Given the description of an element on the screen output the (x, y) to click on. 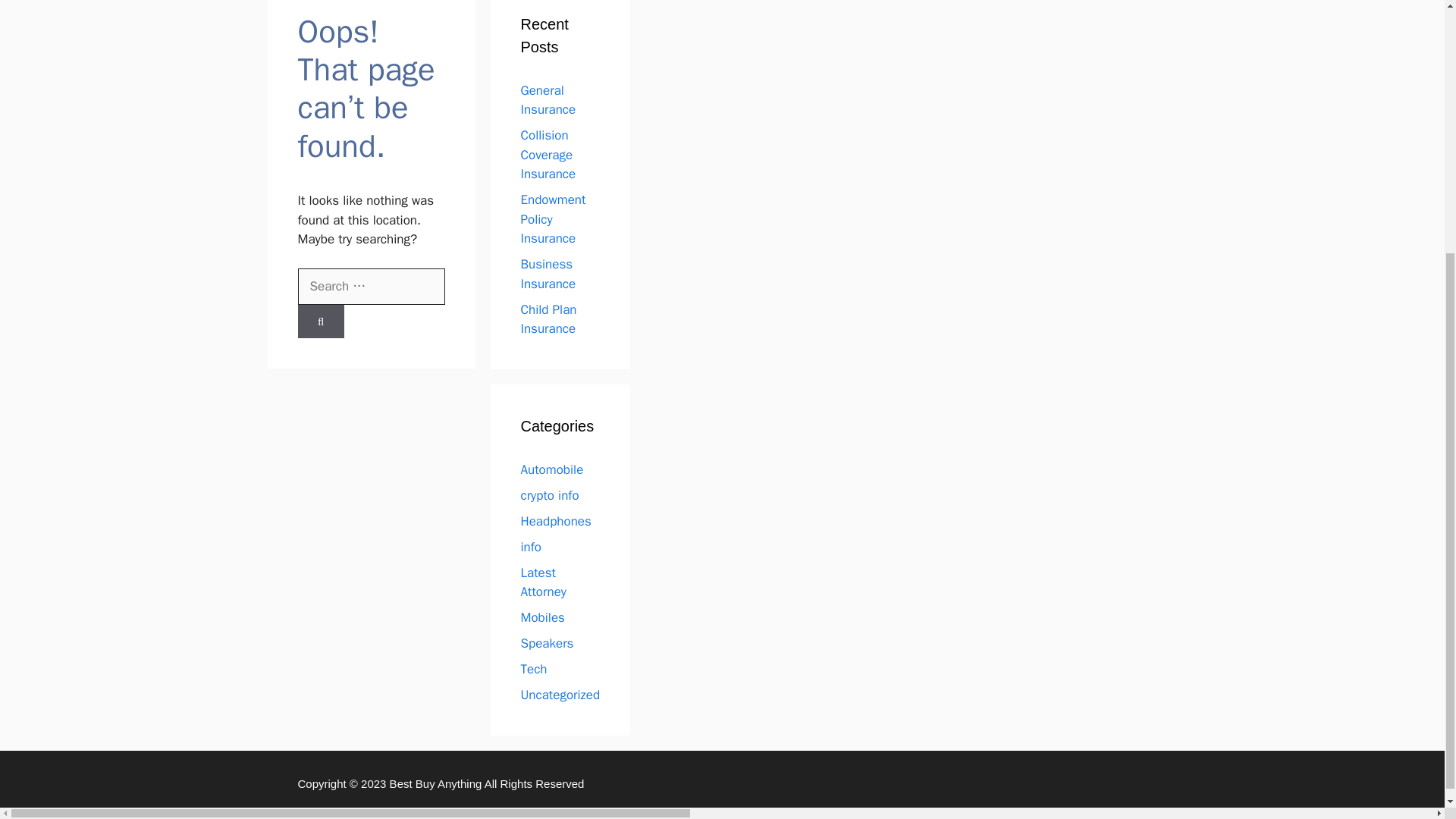
Uncategorized (559, 694)
Latest Attorney (542, 582)
Endowment Policy Insurance (552, 218)
Child Plan Insurance (547, 318)
General Insurance (547, 99)
Speakers (546, 643)
Tech (533, 668)
info (530, 546)
Search for: (370, 286)
Collision Coverage Insurance (547, 154)
